Given the description of an element on the screen output the (x, y) to click on. 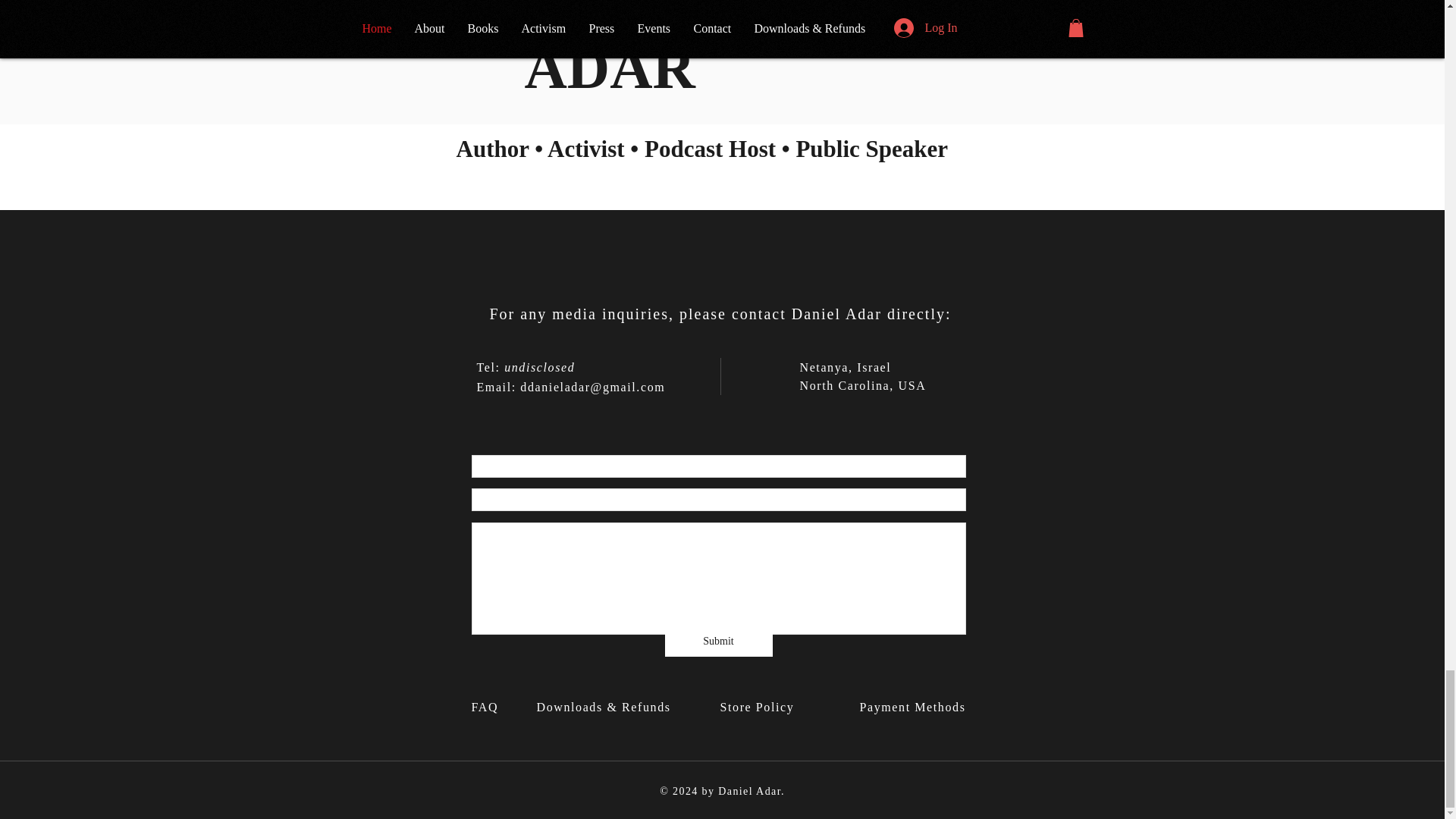
FAQ  (486, 707)
Submit (717, 641)
Payment Methods  (915, 707)
Store Policy    (764, 707)
